Given the description of an element on the screen output the (x, y) to click on. 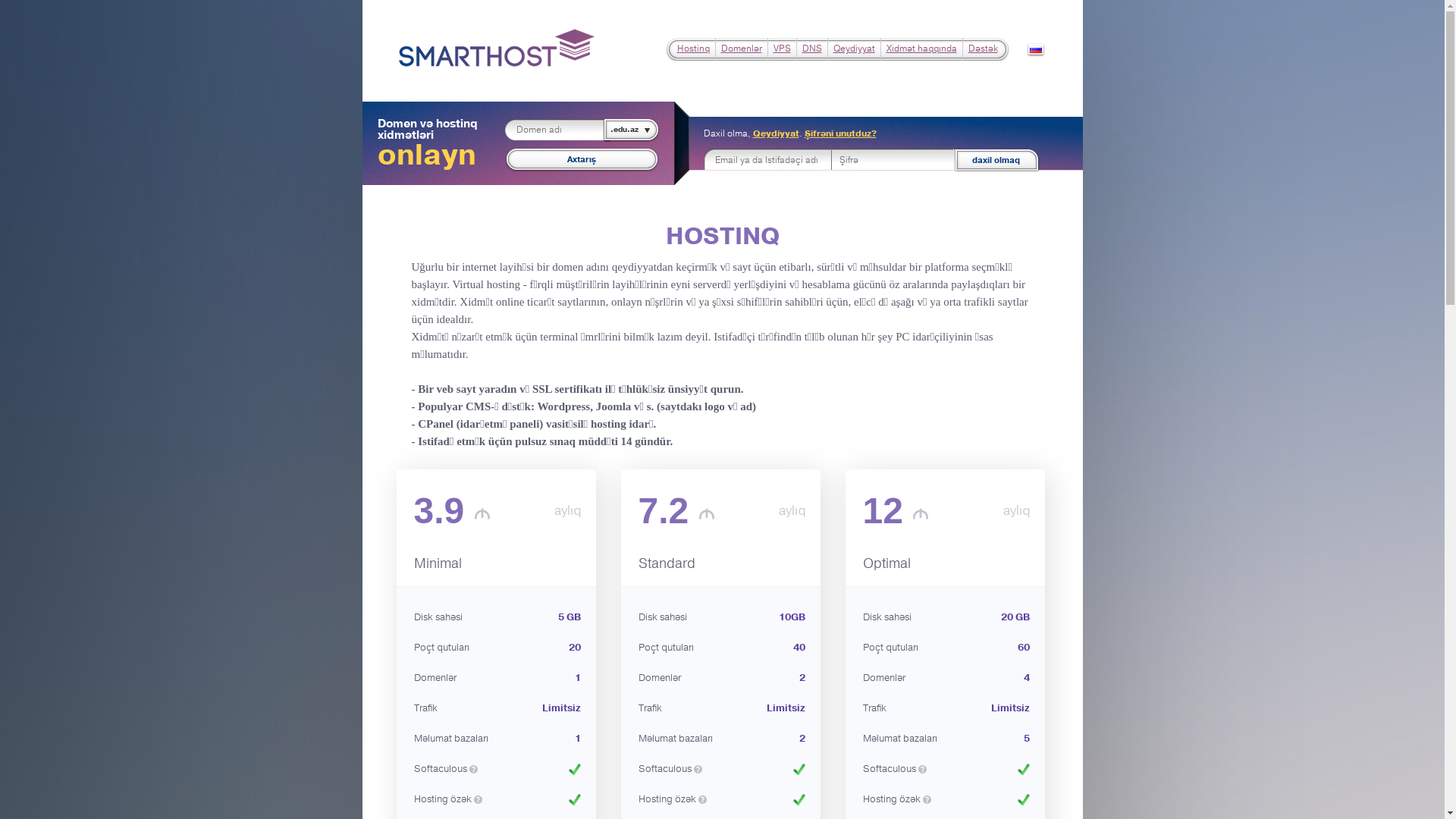
Qeydiyyat Element type: text (775, 133)
daxil olmaq Element type: text (994, 159)
Hostinq Element type: text (692, 48)
Qeydiyyat Element type: text (853, 48)
DNS Element type: text (812, 48)
VPS Element type: text (781, 48)
